Given the description of an element on the screen output the (x, y) to click on. 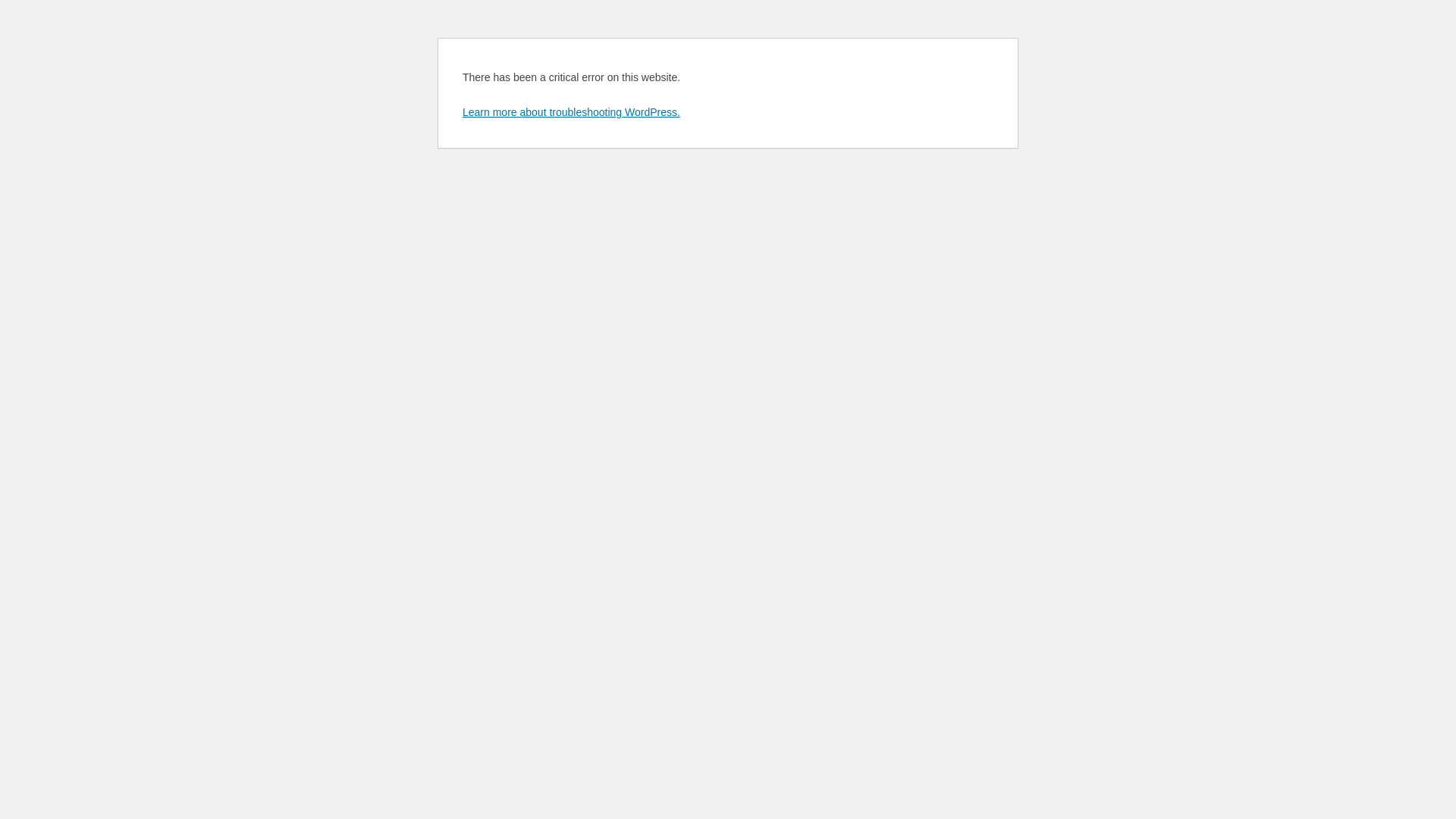
Learn more about troubleshooting WordPress. Element type: text (571, 112)
